Given the description of an element on the screen output the (x, y) to click on. 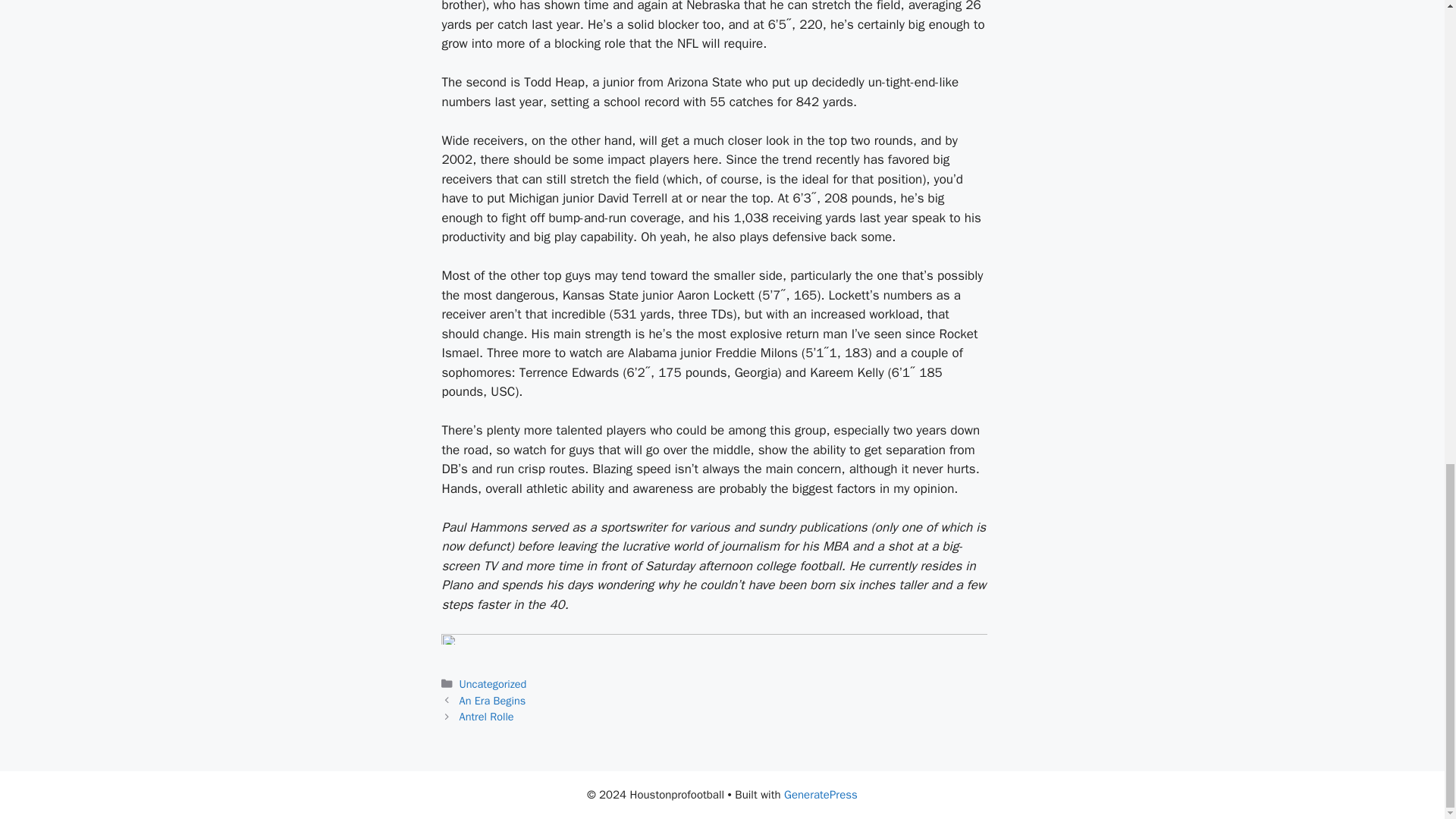
Antrel Rolle (486, 716)
GeneratePress (820, 794)
Uncategorized (493, 684)
An Era Begins (492, 700)
